Given the description of an element on the screen output the (x, y) to click on. 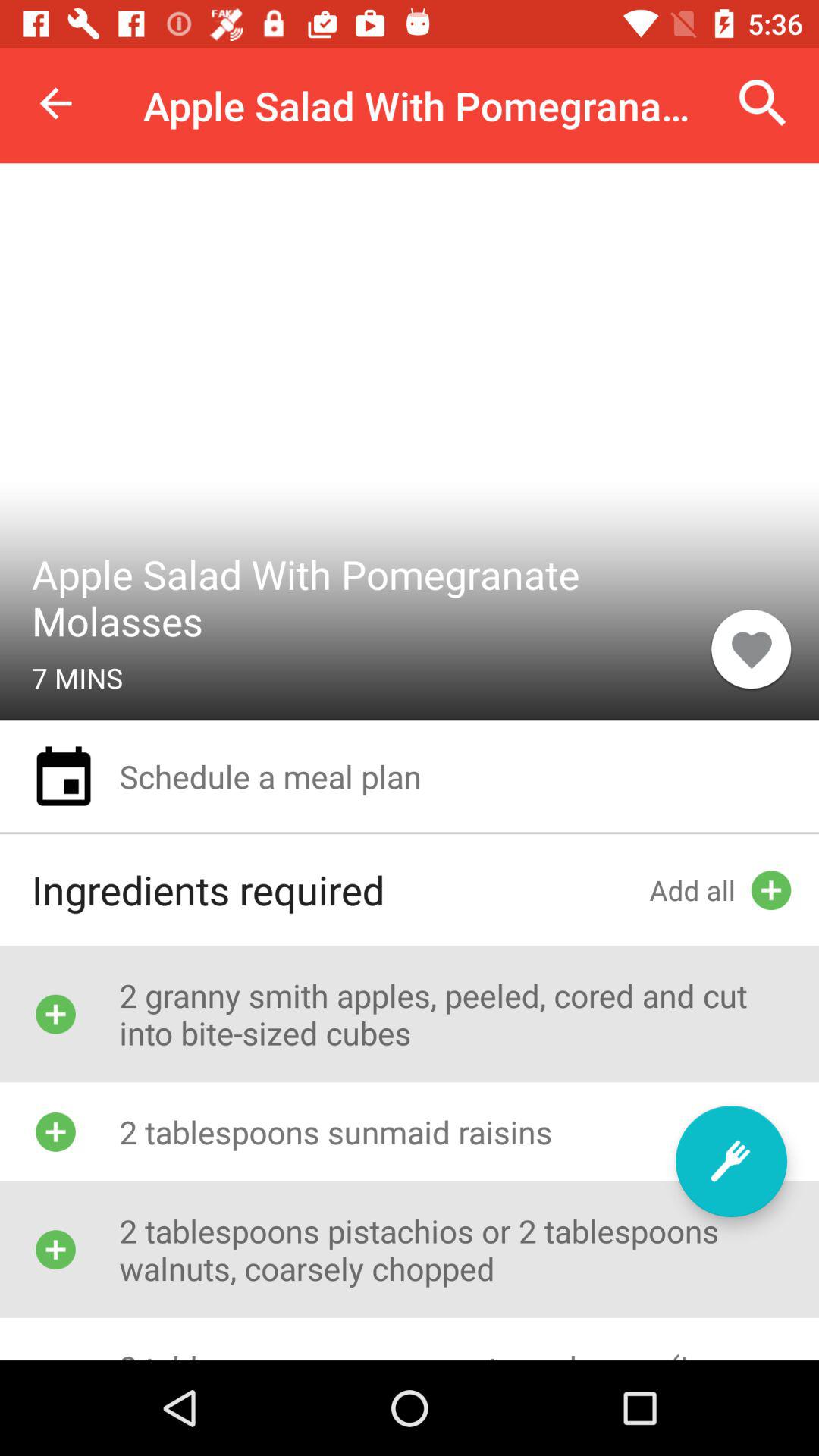
turn on the item below 2 granny smith item (731, 1161)
